Given the description of an element on the screen output the (x, y) to click on. 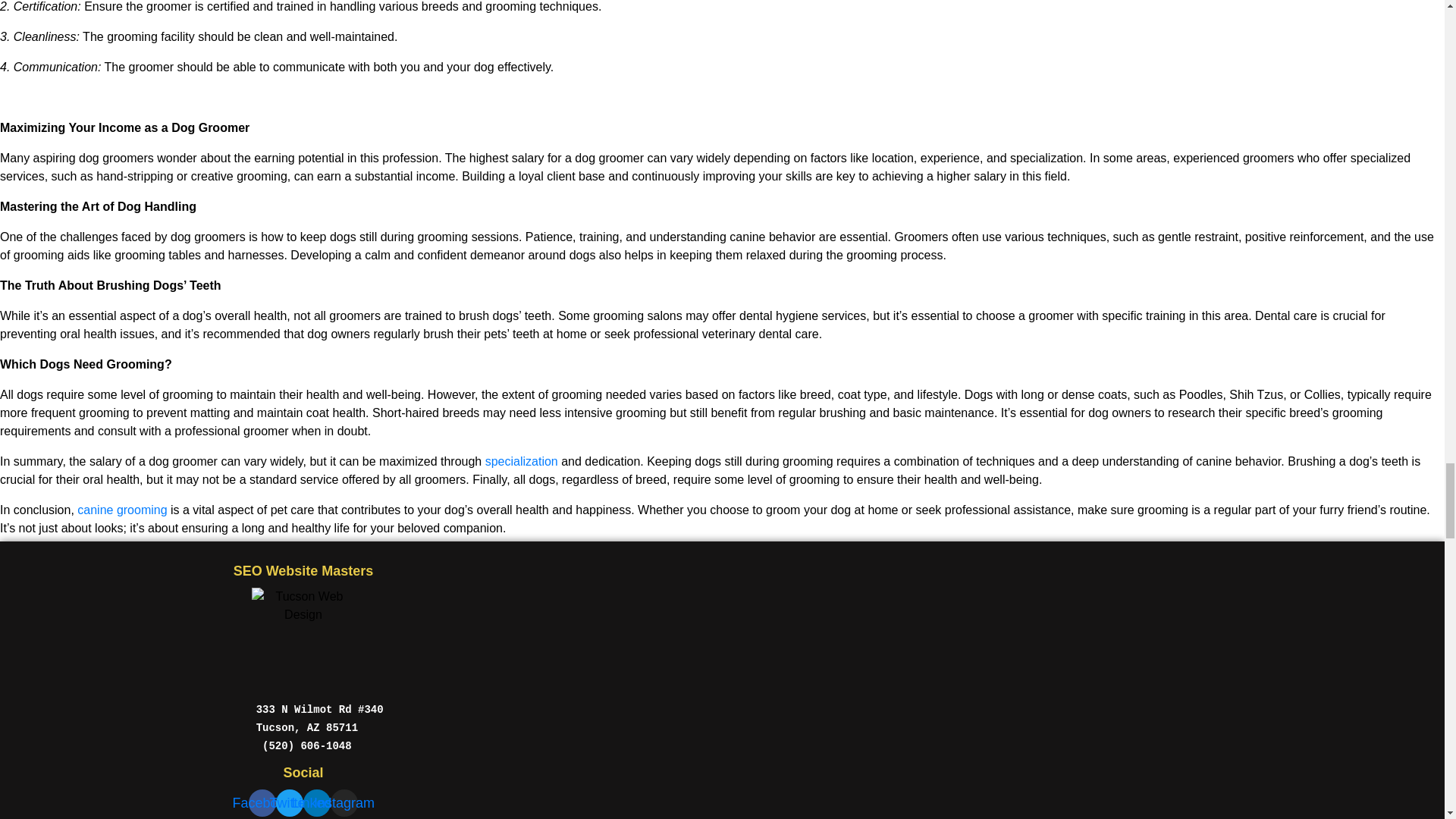
Instagram (344, 802)
specialization (520, 461)
canine grooming (122, 509)
Twitter (289, 802)
Facebook (262, 802)
Linkedin (316, 802)
